Given the description of an element on the screen output the (x, y) to click on. 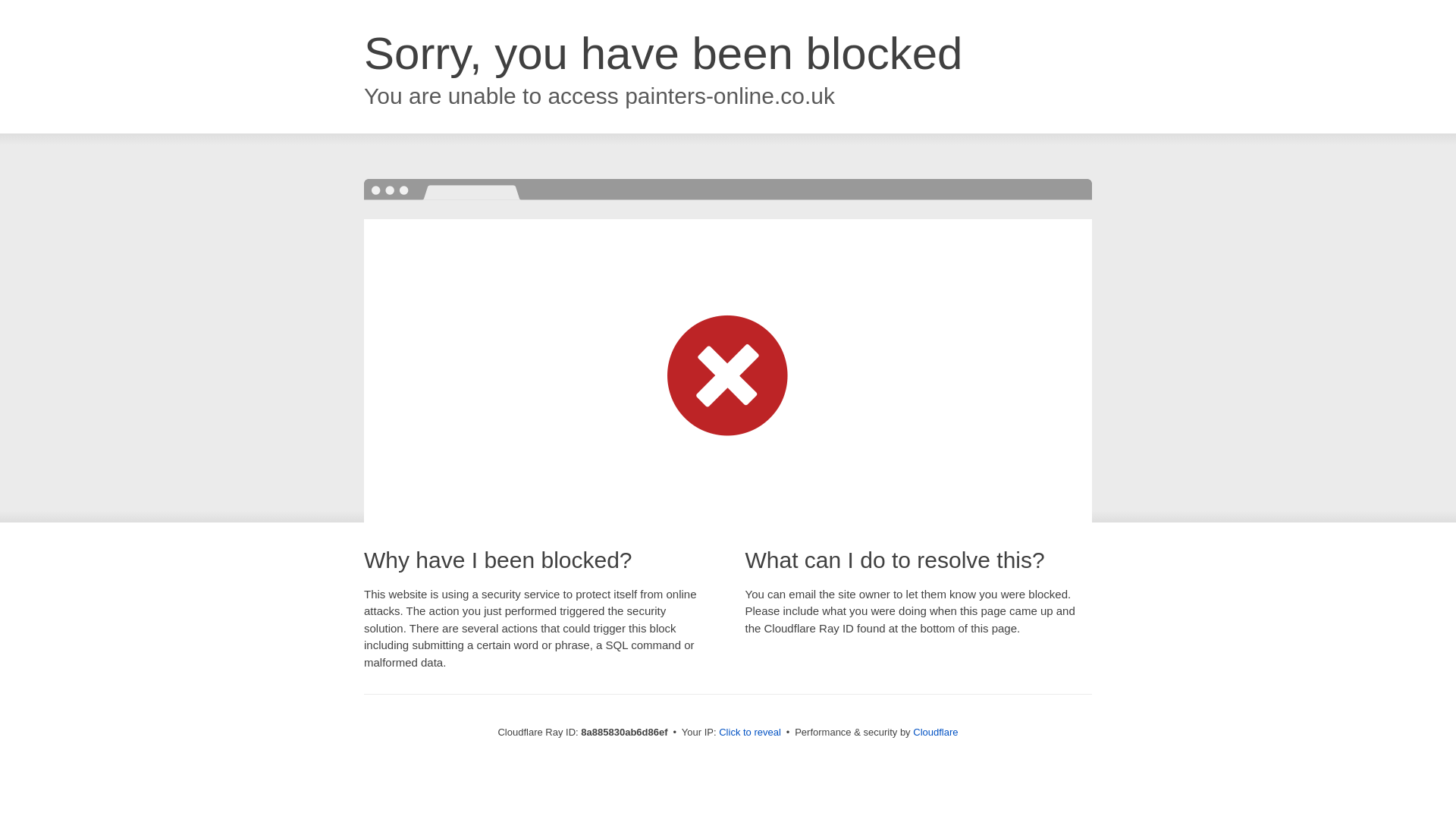
Cloudflare (935, 731)
Click to reveal (749, 732)
